Given the description of an element on the screen output the (x, y) to click on. 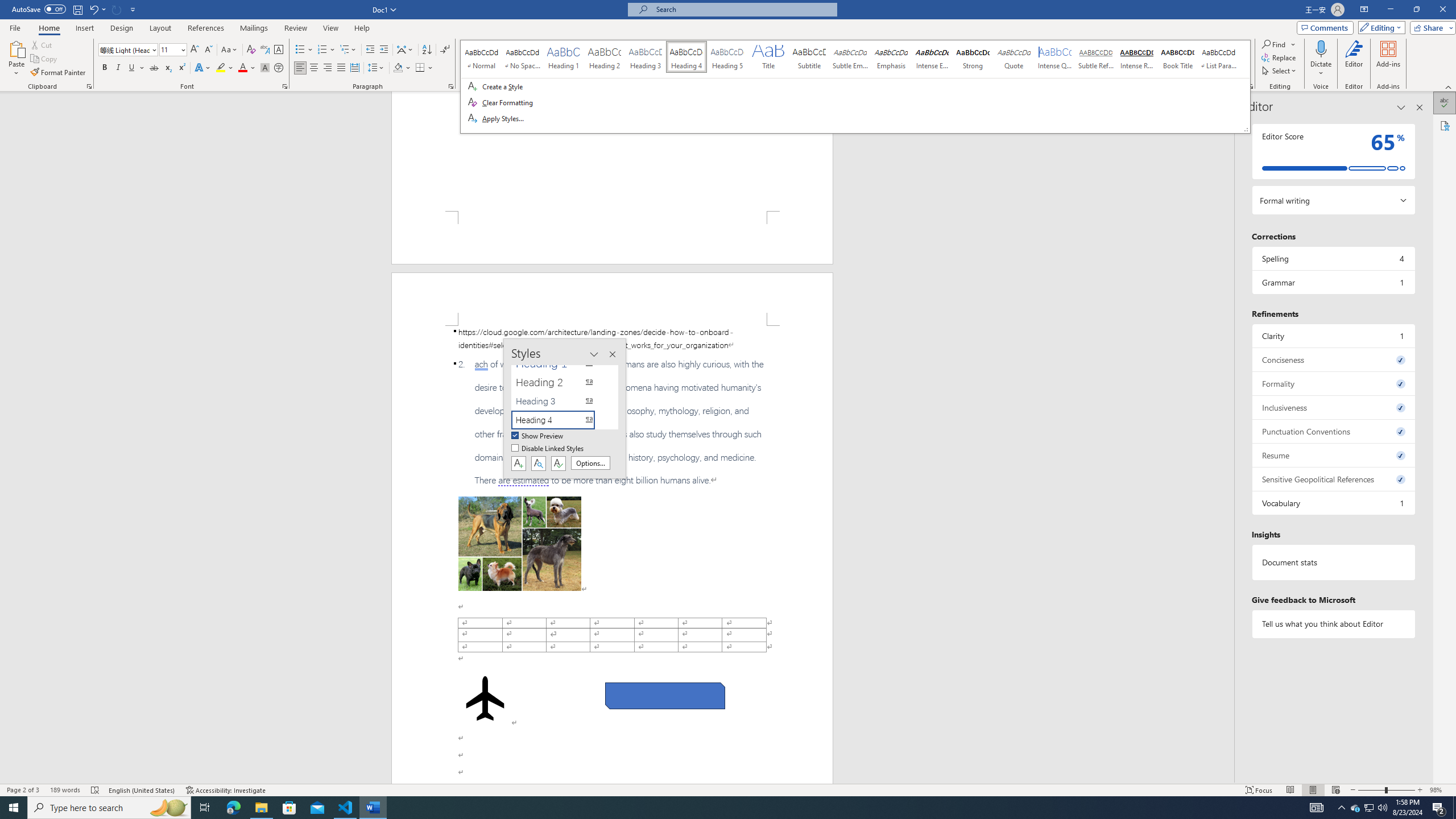
Heading 2 (559, 382)
Class: NetUIButton (558, 463)
Clarity, 1 issue. Press space or enter to review items. (1333, 335)
Document statistics (1333, 561)
